Given the description of an element on the screen output the (x, y) to click on. 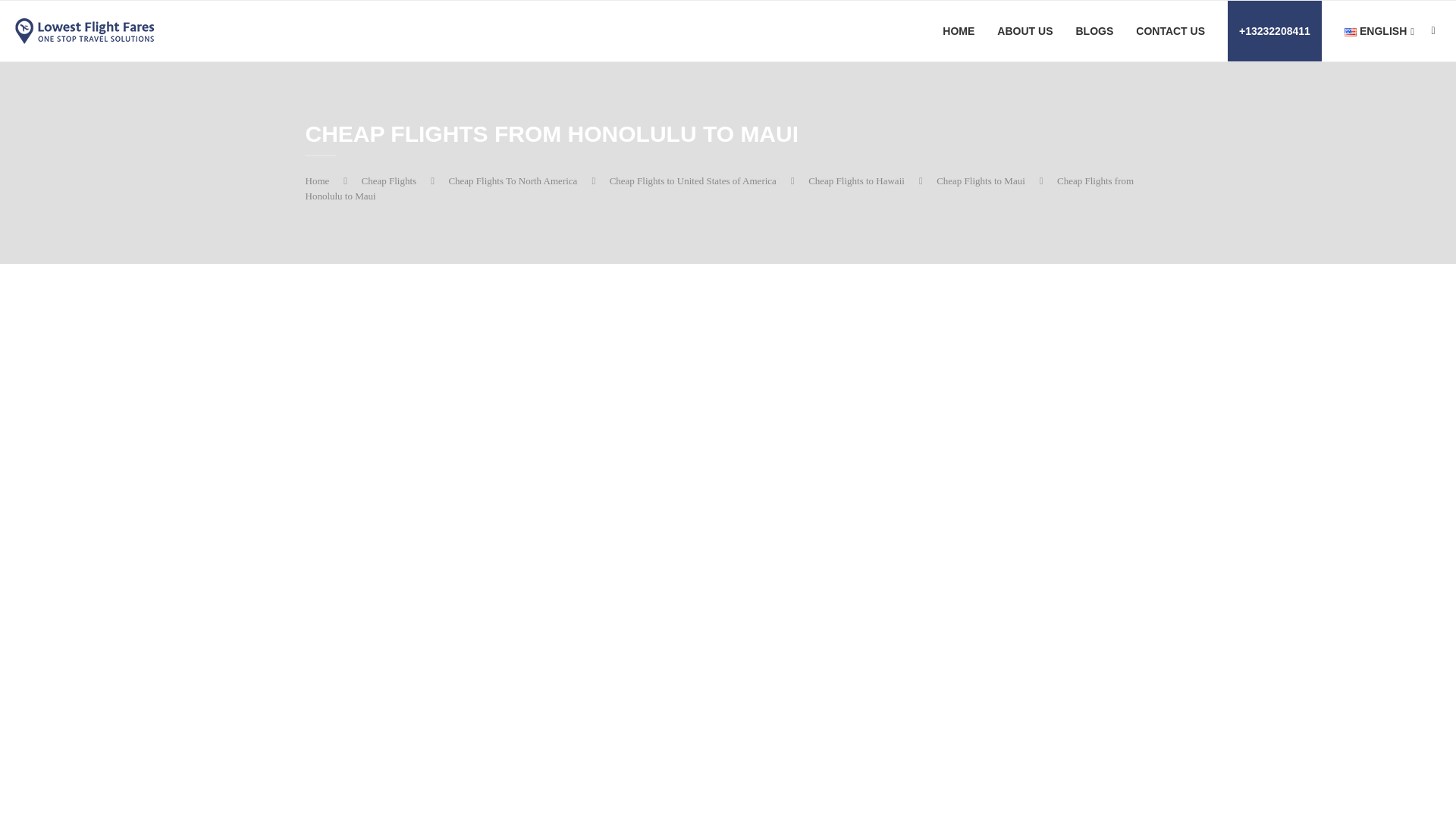
ABOUT US (1024, 30)
Cheap Flights to Hawaii (856, 180)
Cheap Flights to Maui (980, 180)
Cheap Flights To North America (512, 180)
Cheap Flights to United States of America (693, 180)
Home (316, 180)
ENGLISH (1378, 31)
Cheap Flights (388, 180)
CONTACT US (1170, 30)
